Given the description of an element on the screen output the (x, y) to click on. 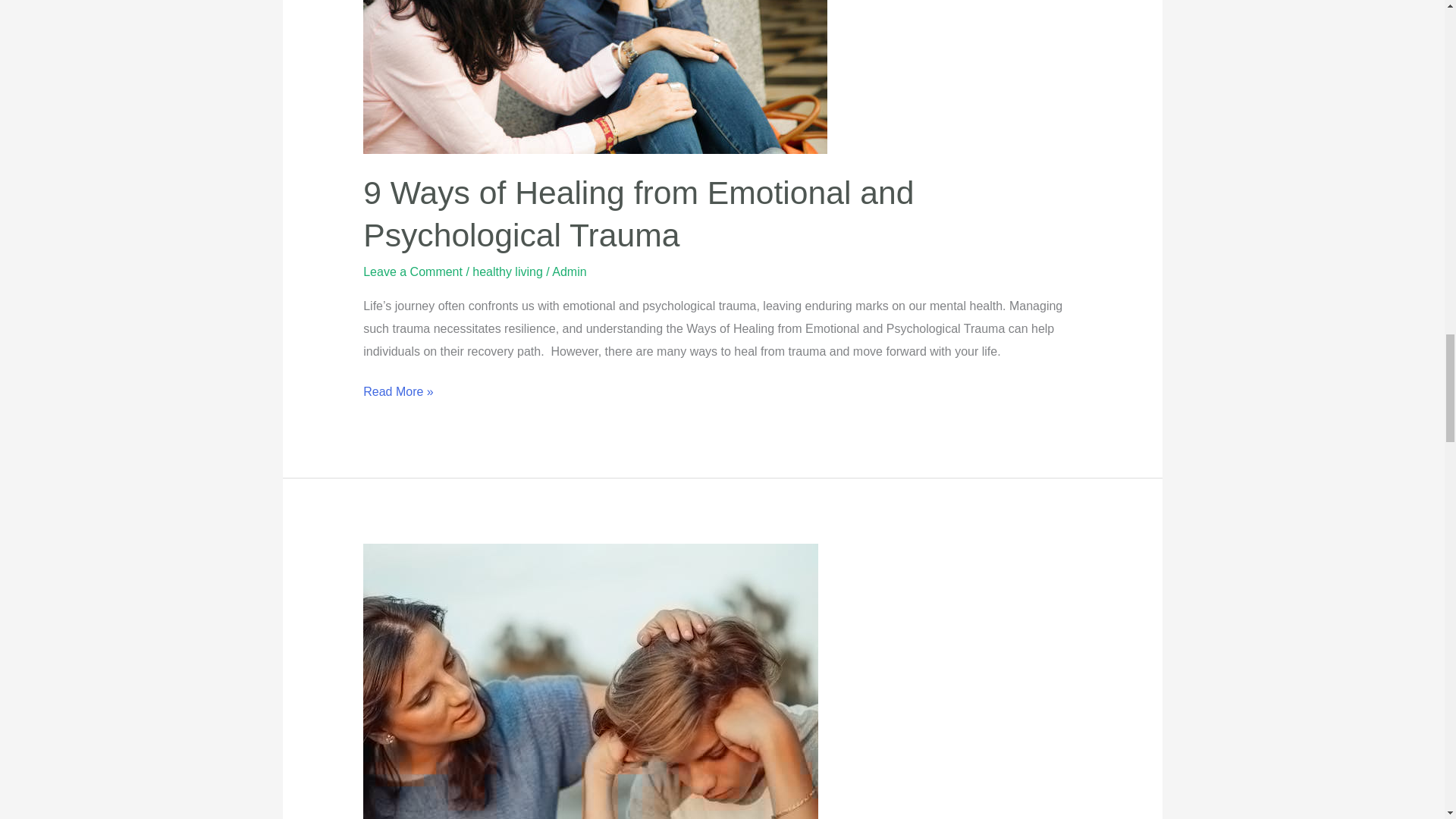
9 Ways of Healing from Emotional and Psychological Trauma (638, 213)
View all posts by Admin (568, 271)
Leave a Comment (412, 271)
healthy living (507, 271)
Admin (568, 271)
